Given the description of an element on the screen output the (x, y) to click on. 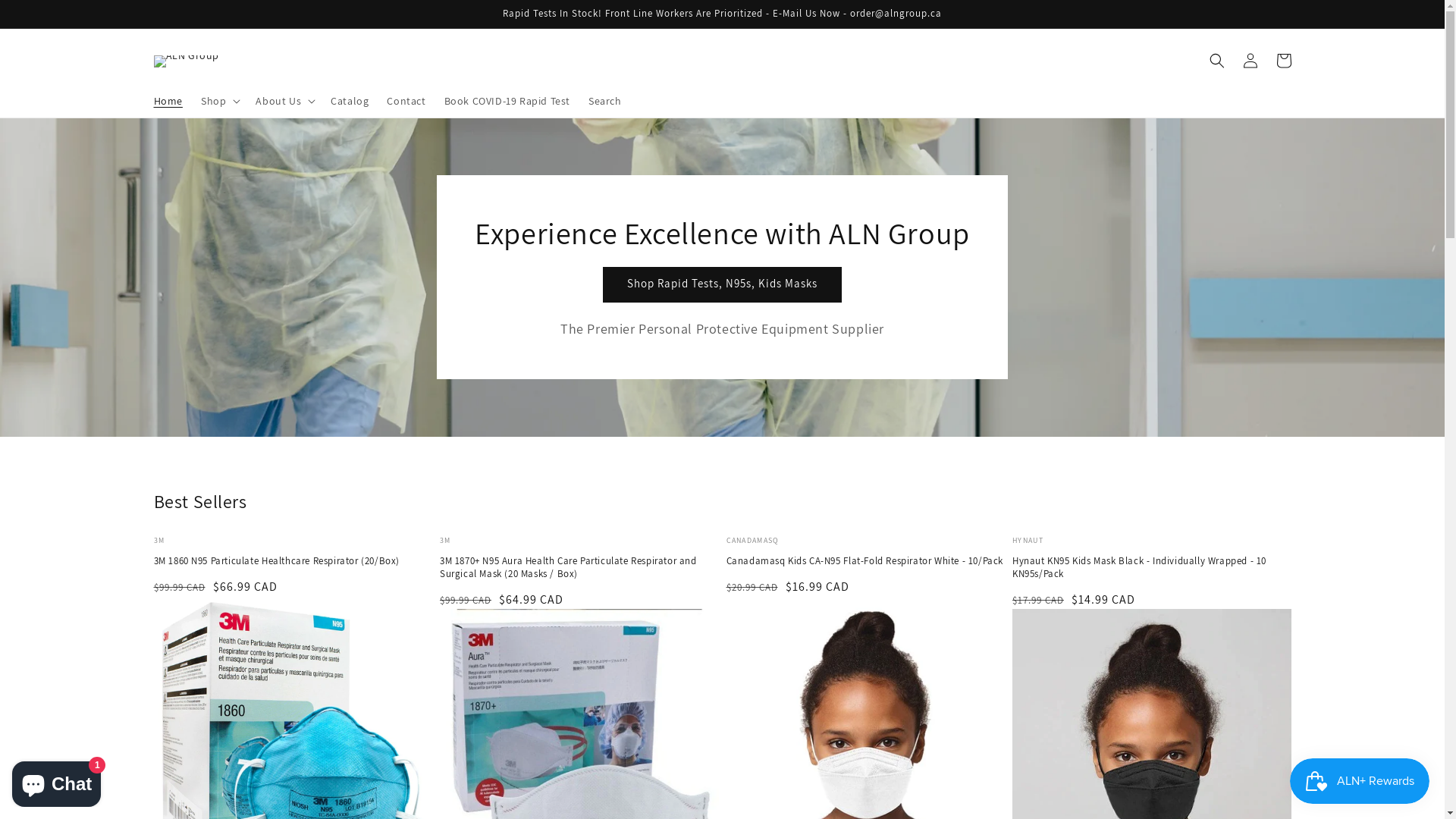
Log in Element type: text (1249, 60)
Home Element type: text (167, 100)
Canadamasq Kids CA-N95 Flat-Fold Respirator White - 10/Pack Element type: text (865, 561)
3M 1860 N95 Particulate Healthcare Respirator (20/Box) Element type: text (292, 561)
Shopify online store chat Element type: hover (56, 780)
Contact Element type: text (405, 100)
Shop Rapid Tests, N95s, Kids Masks Element type: text (721, 284)
Search Element type: text (604, 100)
Smile.io Rewards Program Launcher Element type: hover (1359, 780)
Cart Element type: text (1282, 60)
Book COVID-19 Rapid Test Element type: text (507, 100)
Catalog Element type: text (349, 100)
